Given the description of an element on the screen output the (x, y) to click on. 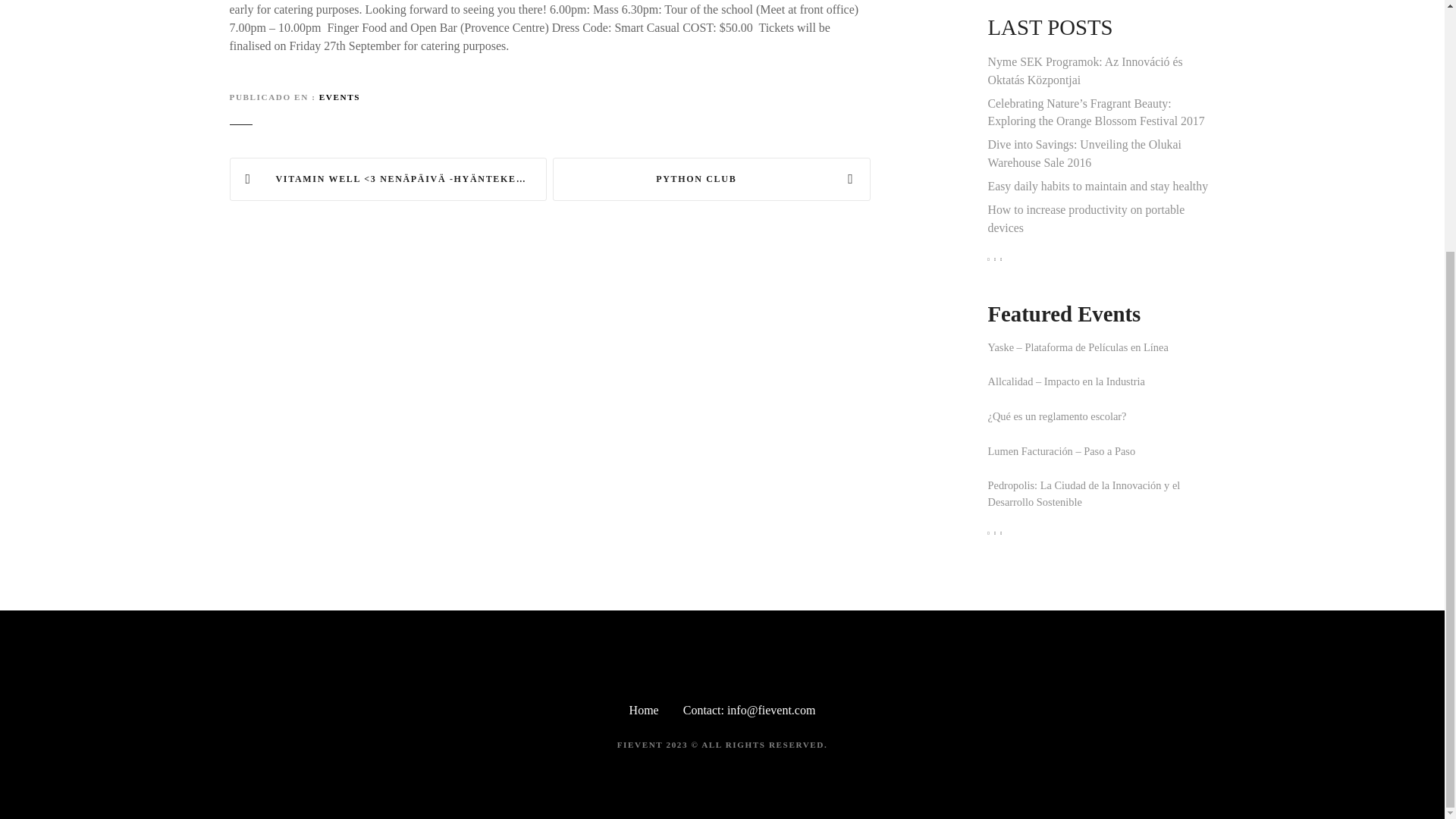
Dive into Savings: Unveiling the Olukai Warehouse Sale 2016 (1100, 153)
Easy daily habits to maintain and stay healthy (1100, 186)
How to increase productivity on portable devices (1100, 218)
PYTHON CLUB (711, 179)
EVENTS (338, 96)
